Given the description of an element on the screen output the (x, y) to click on. 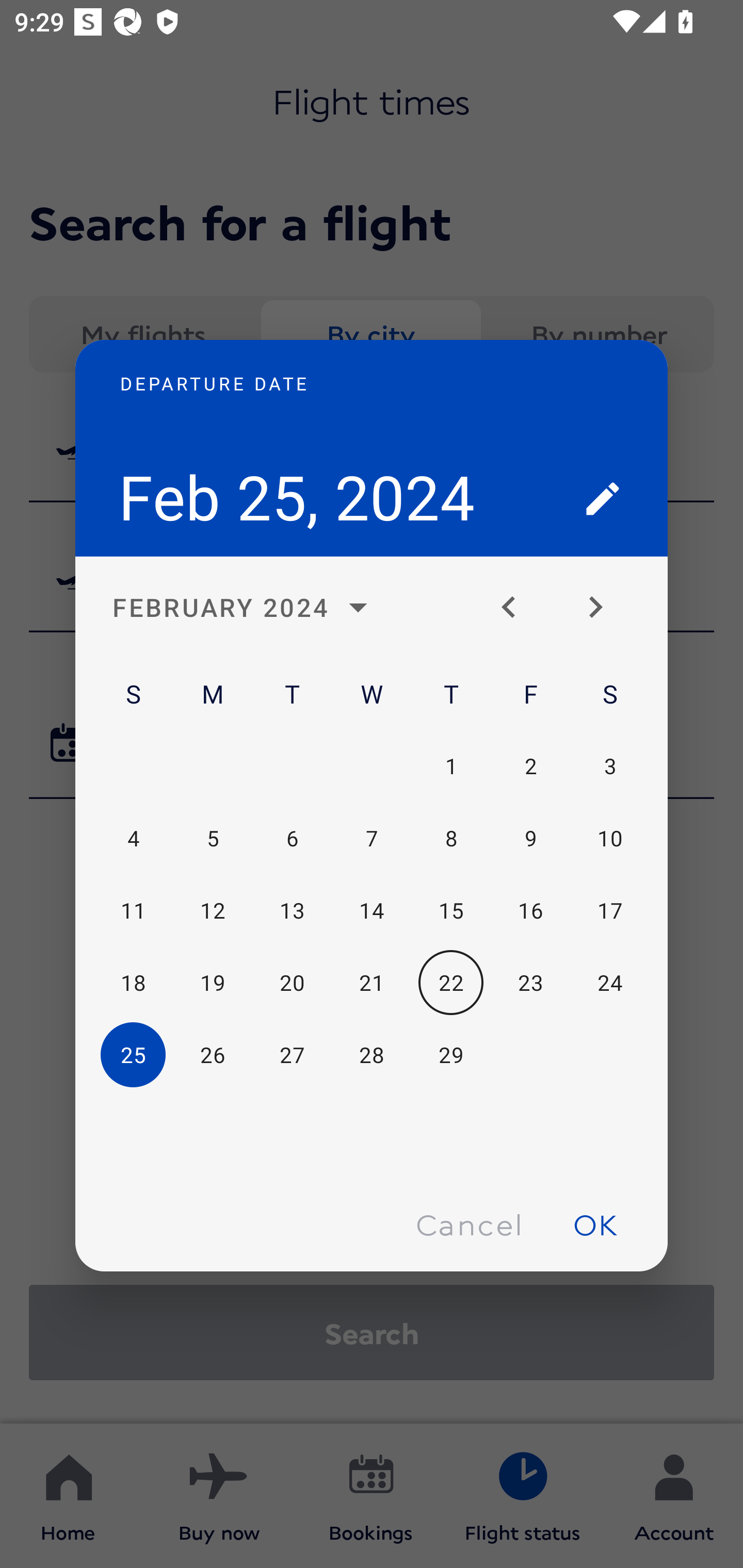
Switch to text input mode (602, 498)
FEBRUARY 2024 (245, 607)
Change to previous month (515, 607)
Change to next month (602, 607)
1 Thu, Feb 1 (450, 765)
2 Fri, Feb 2 (530, 765)
3 Sat, Feb 3 (609, 765)
4 Sun, Feb 4 (133, 838)
5 Mon, Feb 5 (212, 838)
6 Tue, Feb 6 (291, 838)
7 Wed, Feb 7 (371, 838)
8 Thu, Feb 8 (450, 838)
9 Fri, Feb 9 (530, 838)
10 Sat, Feb 10 (609, 838)
11 Sun, Feb 11 (133, 910)
12 Mon, Feb 12 (212, 910)
13 Tue, Feb 13 (291, 910)
14 Wed, Feb 14 (371, 910)
15 Thu, Feb 15 (450, 910)
16 Fri, Feb 16 (530, 910)
17 Sat, Feb 17 (609, 910)
18 Sun, Feb 18 (133, 983)
19 Mon, Feb 19 (212, 983)
20 Tue, Feb 20 (291, 983)
21 Wed, Feb 21 (371, 983)
22 Today Thu, Feb 22 (450, 983)
23 Fri, Feb 23 (530, 983)
24 Sat, Feb 24 (609, 983)
25 Sun, Feb 25 (133, 1055)
26 Mon, Feb 26 (212, 1055)
27 Tue, Feb 27 (291, 1055)
28 Wed, Feb 28 (371, 1055)
29 Thu, Feb 29 (450, 1055)
Cancel (468, 1224)
OK null, OK (595, 1224)
